Given the description of an element on the screen output the (x, y) to click on. 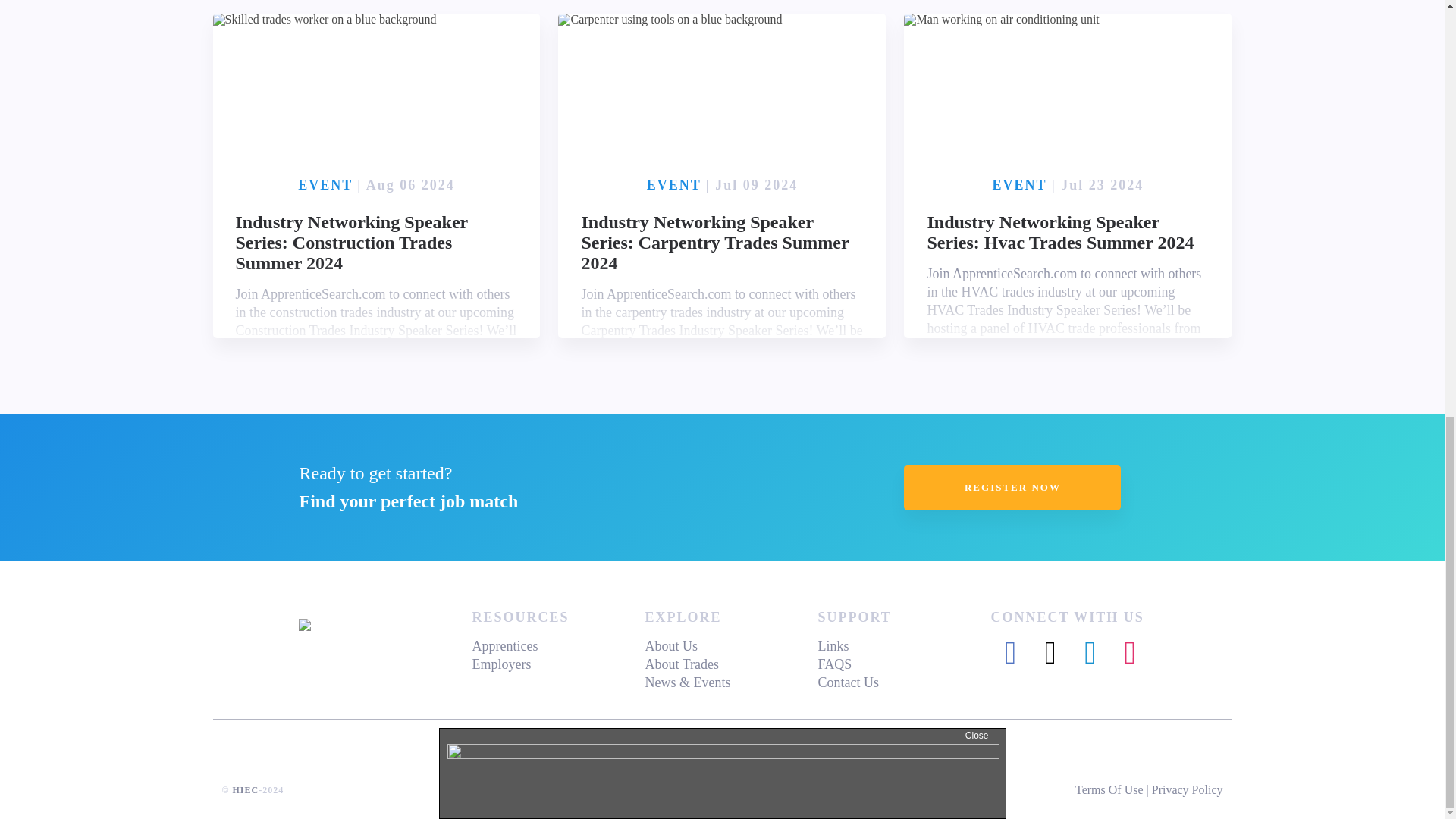
Employers (501, 663)
Apprentices (504, 645)
REGISTER NOW (1012, 487)
About Trades (682, 663)
About Us (671, 645)
